Given the description of an element on the screen output the (x, y) to click on. 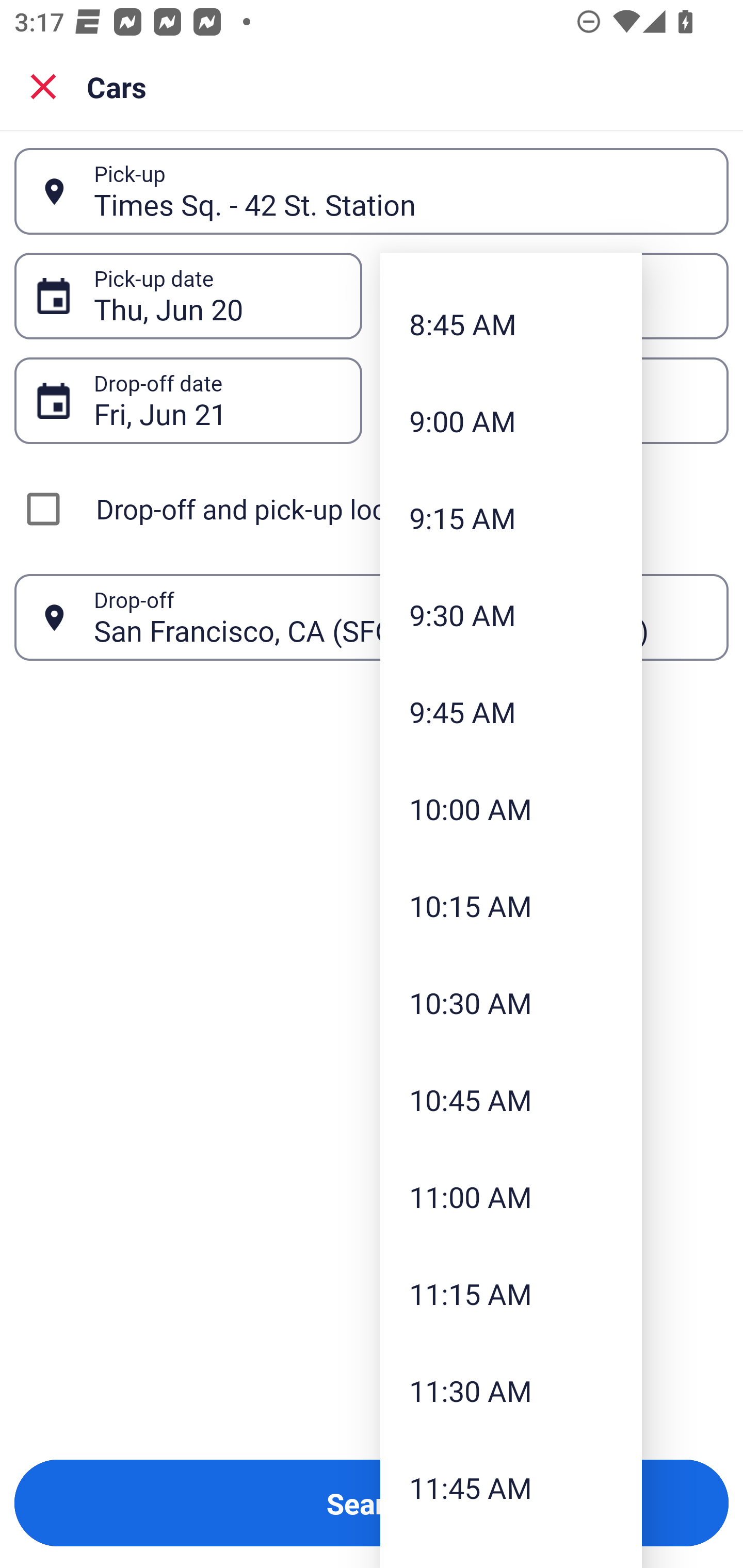
8:45 AM (510, 324)
9:00 AM (510, 420)
9:15 AM (510, 517)
9:30 AM (510, 614)
9:45 AM (510, 711)
10:00 AM (510, 808)
10:15 AM (510, 905)
10:30 AM (510, 1002)
10:45 AM (510, 1098)
11:00 AM (510, 1195)
11:15 AM (510, 1293)
11:30 AM (510, 1390)
11:45 AM (510, 1487)
